Given the description of an element on the screen output the (x, y) to click on. 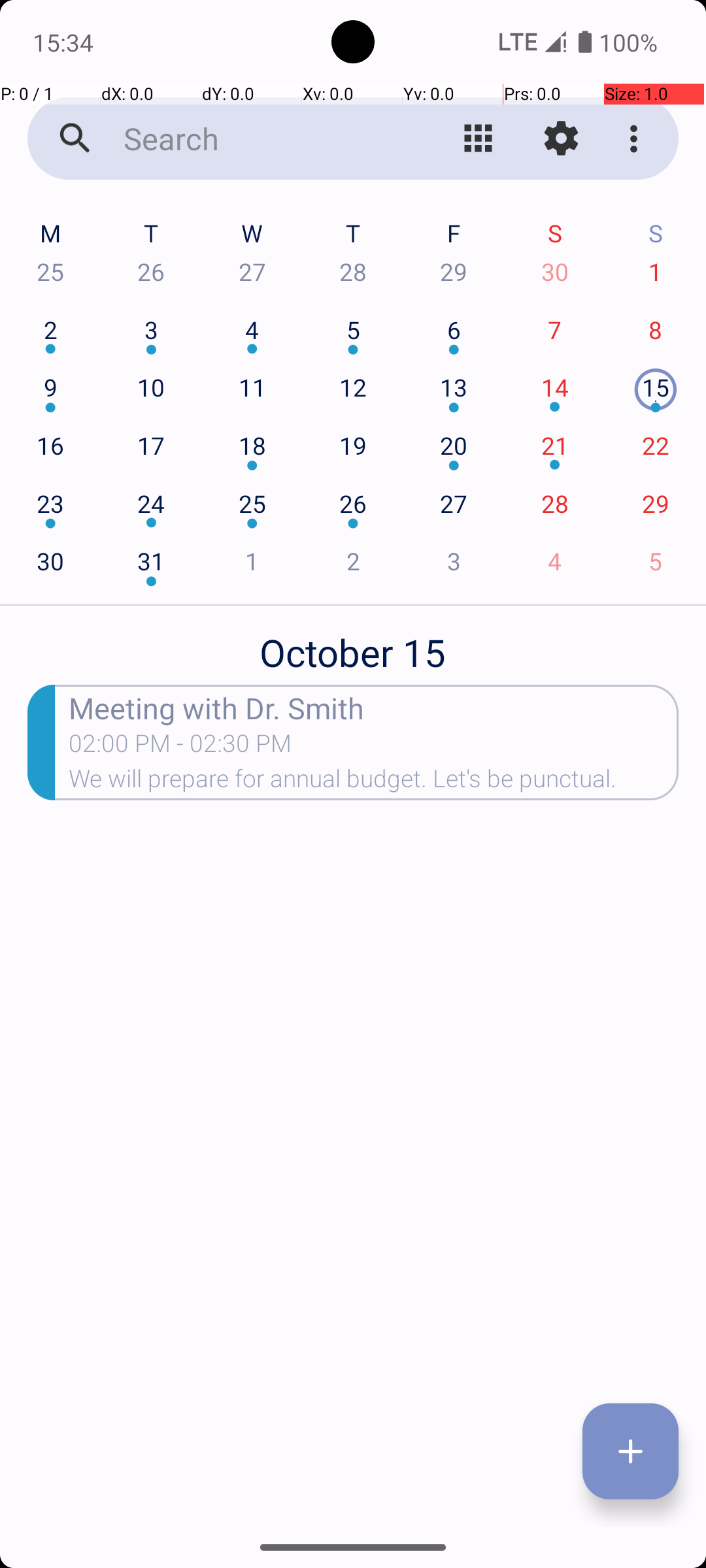
October 15 Element type: android.widget.TextView (352, 644)
02:00 PM - 02:30 PM Element type: android.widget.TextView (179, 747)
We will prepare for annual budget. Let's be punctual. Element type: android.widget.TextView (373, 782)
